Given the description of an element on the screen output the (x, y) to click on. 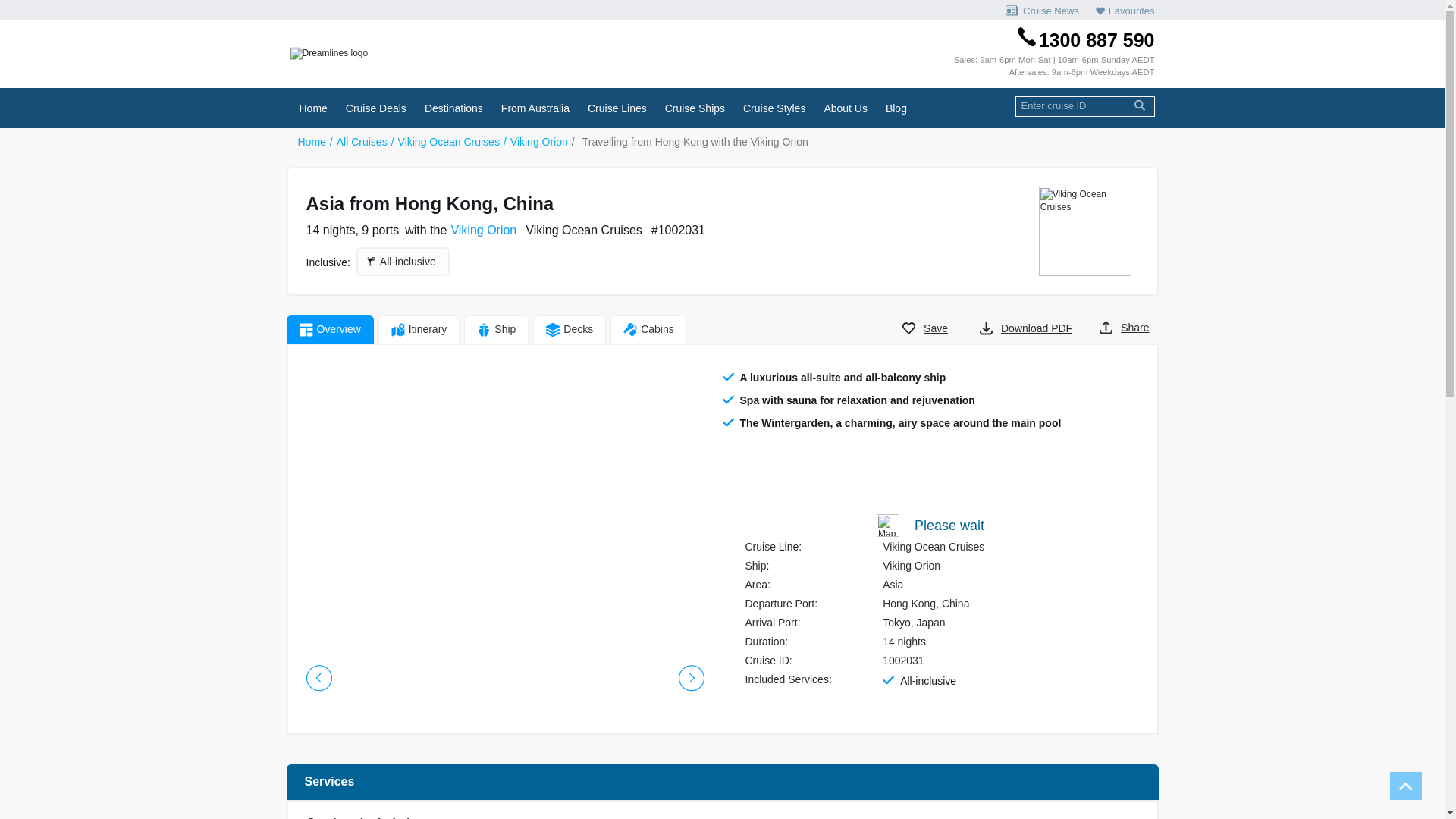
Viking Orion Element type: text (483, 230)
Viking Ocean Cruises Element type: text (448, 141)
Dreamlines Element type: hover (422, 53)
About Us Element type: text (845, 108)
Home Element type: text (311, 141)
Favourites Element type: text (1120, 9)
Home Element type: text (312, 108)
Cruise Lines Element type: text (616, 108)
Cruise News Element type: text (1041, 9)
Save Element type: text (922, 328)
Viking Orion Element type: text (538, 141)
Cruise Deals Element type: text (375, 108)
From Australia Element type: text (535, 108)
Blog Element type: text (896, 108)
Download PDF Element type: text (1023, 328)
Cruise Styles Element type: text (774, 108)
Cruise Ships Element type: text (694, 108)
All Cruises Element type: text (361, 141)
Destinations Element type: text (453, 108)
Viking Ocean Cruises Element type: hover (1088, 231)
